Given the description of an element on the screen output the (x, y) to click on. 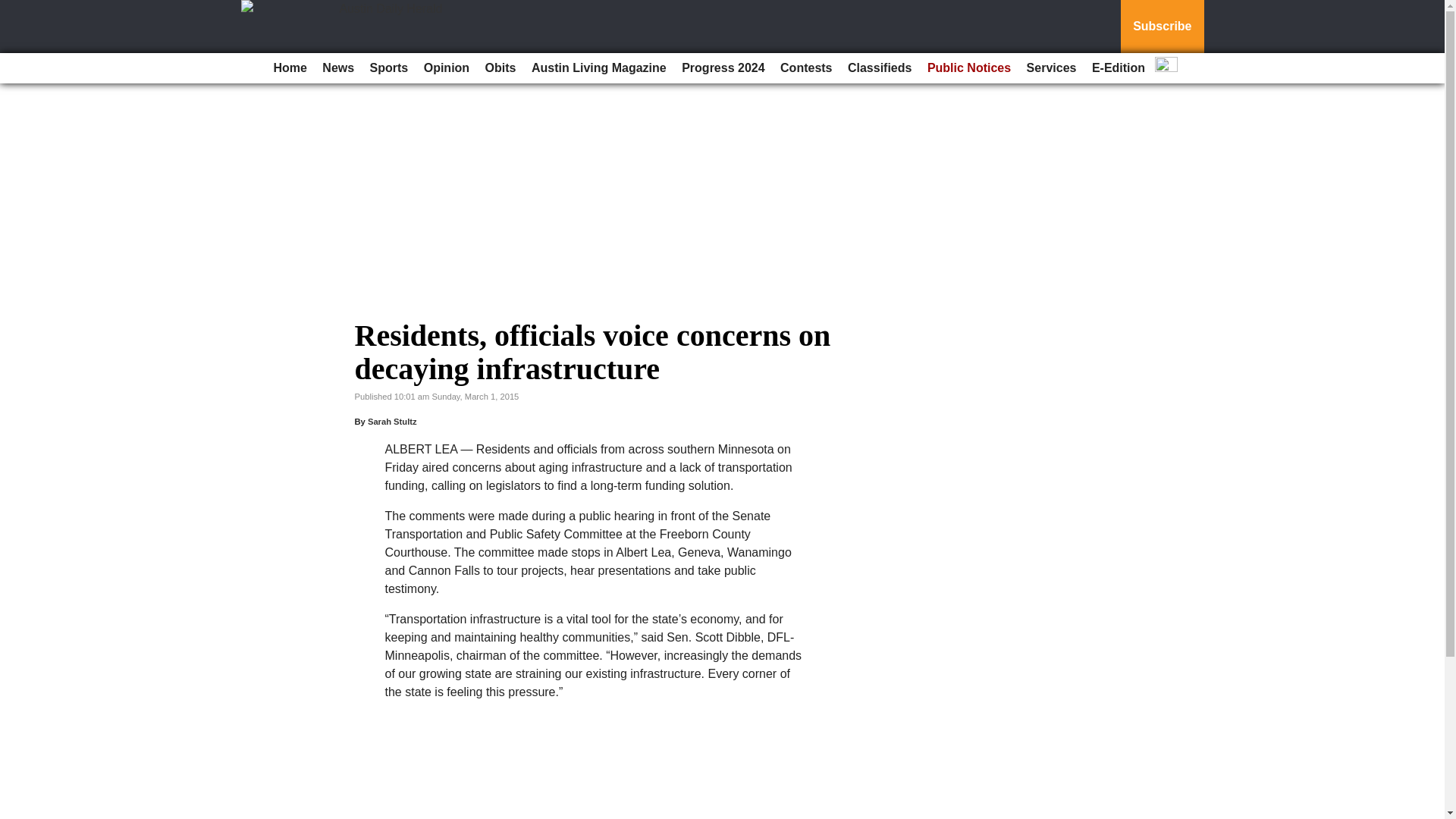
Home (289, 68)
Austin Living Magazine (598, 68)
News (337, 68)
Contests (806, 68)
Sports (389, 68)
Progress 2024 (722, 68)
Services (1051, 68)
Subscribe (1162, 26)
Public Notices (968, 68)
Opinion (446, 68)
